Given the description of an element on the screen output the (x, y) to click on. 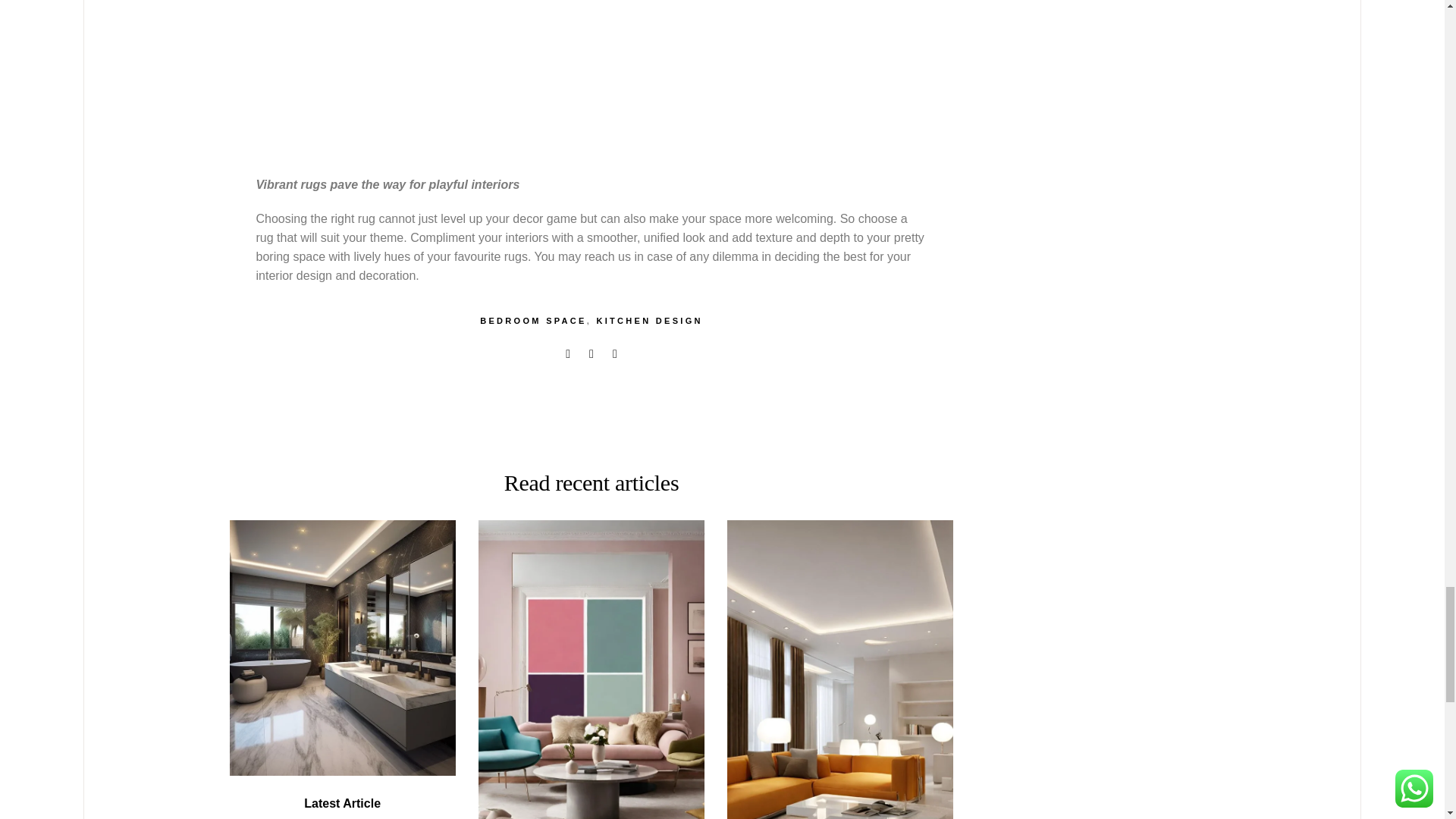
How to design a luxury bathroom with a perfect bathtub (341, 818)
